Given the description of an element on the screen output the (x, y) to click on. 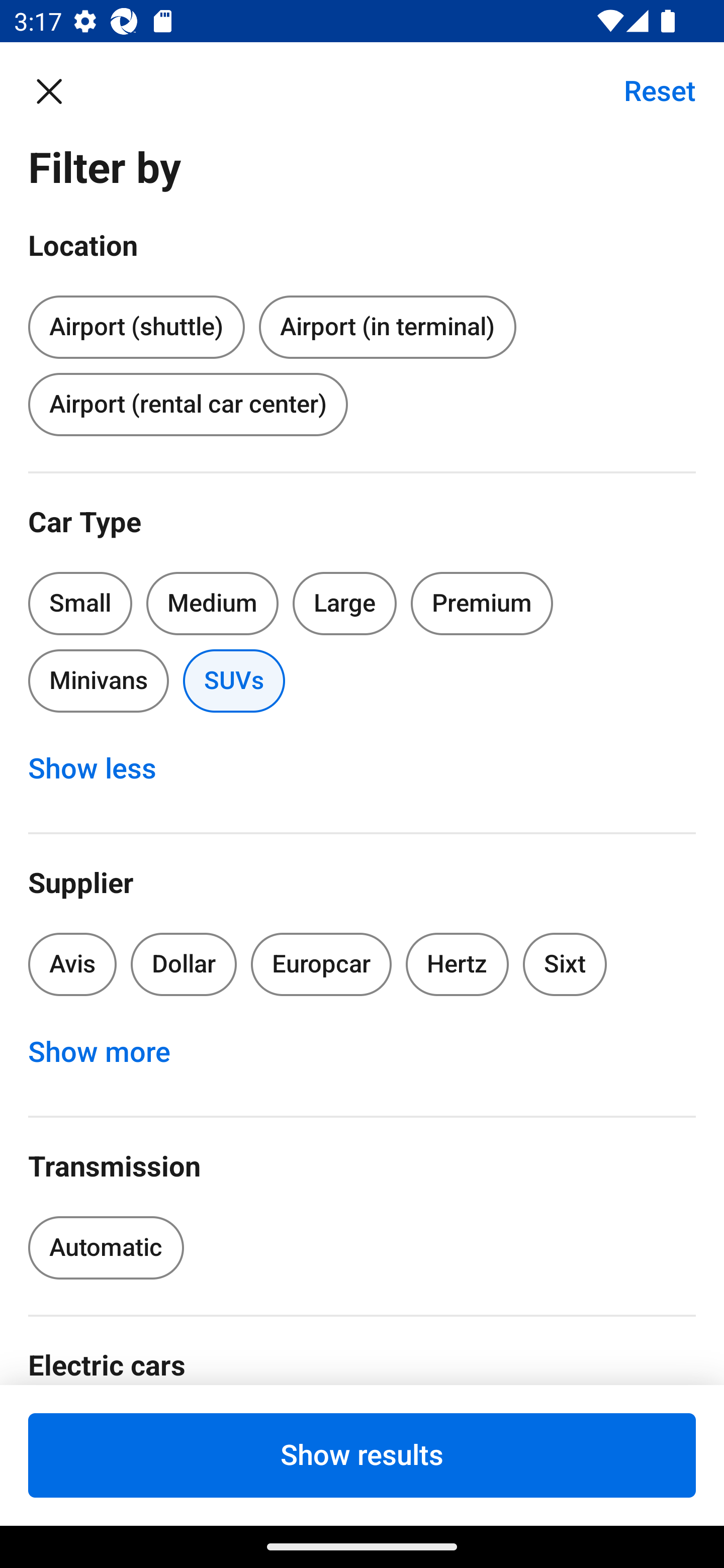
Close (59, 90)
Reset (649, 90)
Airport (shuttle) (136, 323)
Airport (in terminal) (387, 327)
Airport (rental car center) (187, 404)
Small (80, 603)
Medium (212, 603)
Large (344, 603)
Premium (482, 603)
Minivans (98, 680)
Show less (102, 767)
Avis (72, 963)
Dollar (183, 963)
Europcar (321, 963)
Hertz (457, 963)
Sixt (564, 963)
Show more (109, 1051)
Automatic (105, 1247)
Show results (361, 1454)
